Given the description of an element on the screen output the (x, y) to click on. 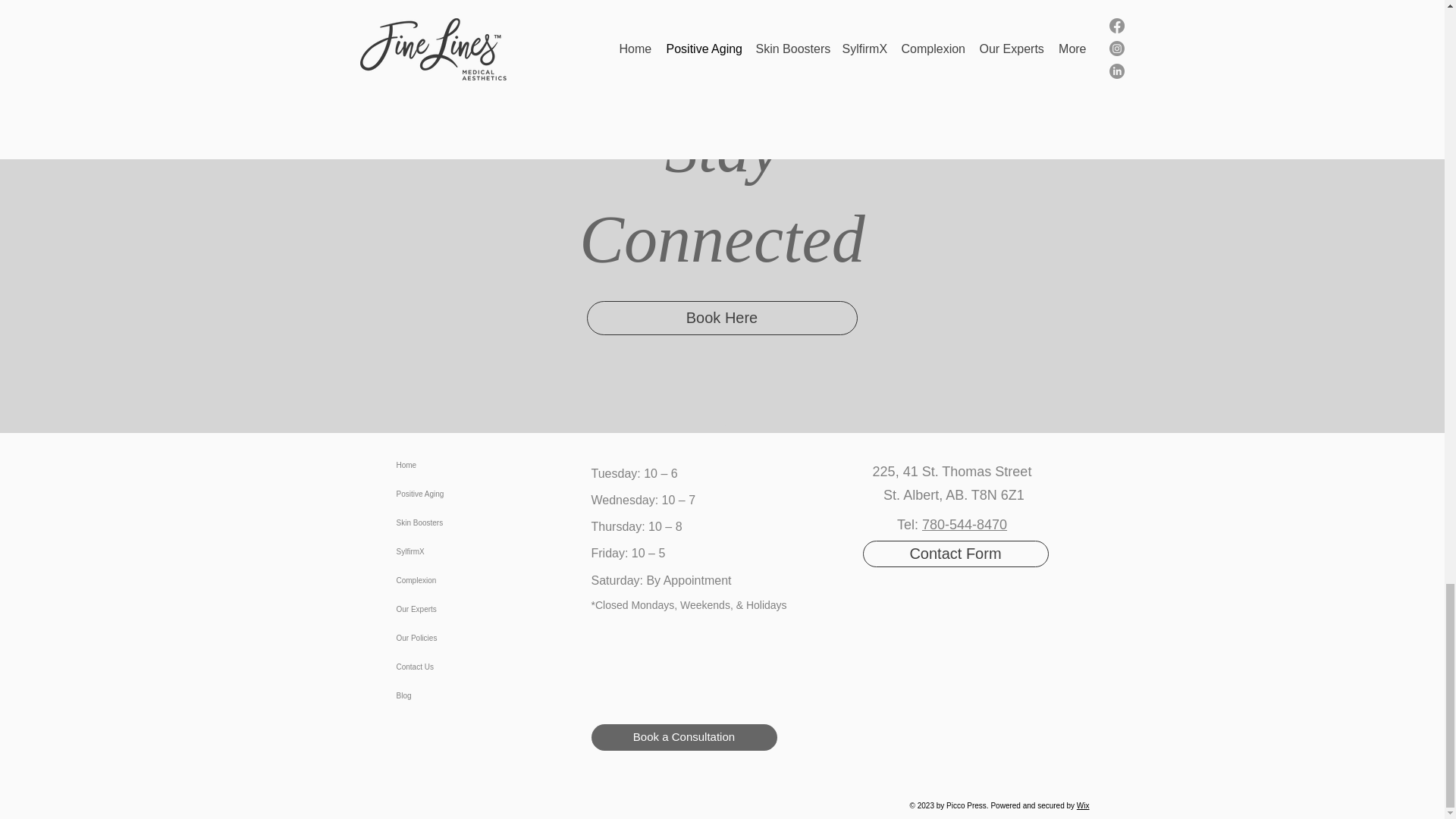
Contact Form (955, 553)
Home (449, 465)
SylfirmX (449, 551)
Our Policies (449, 638)
Positive Aging (449, 493)
780-544-8470 (964, 524)
Complexion (449, 580)
Our Experts (449, 609)
Blog (449, 695)
Book Here (721, 317)
